Given the description of an element on the screen output the (x, y) to click on. 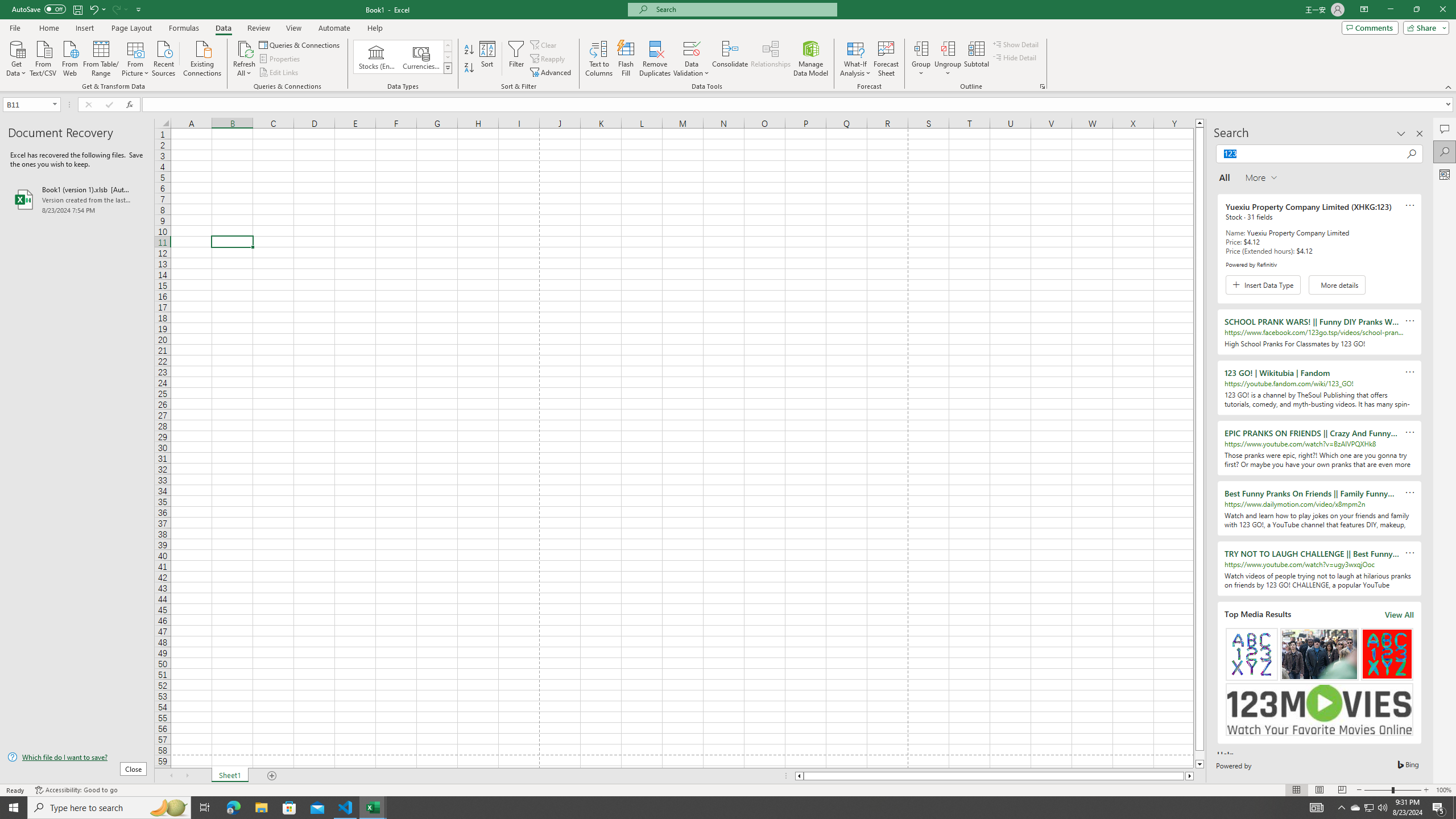
Properties (280, 58)
Text to Columns... (598, 58)
Sort... (487, 58)
